Given the description of an element on the screen output the (x, y) to click on. 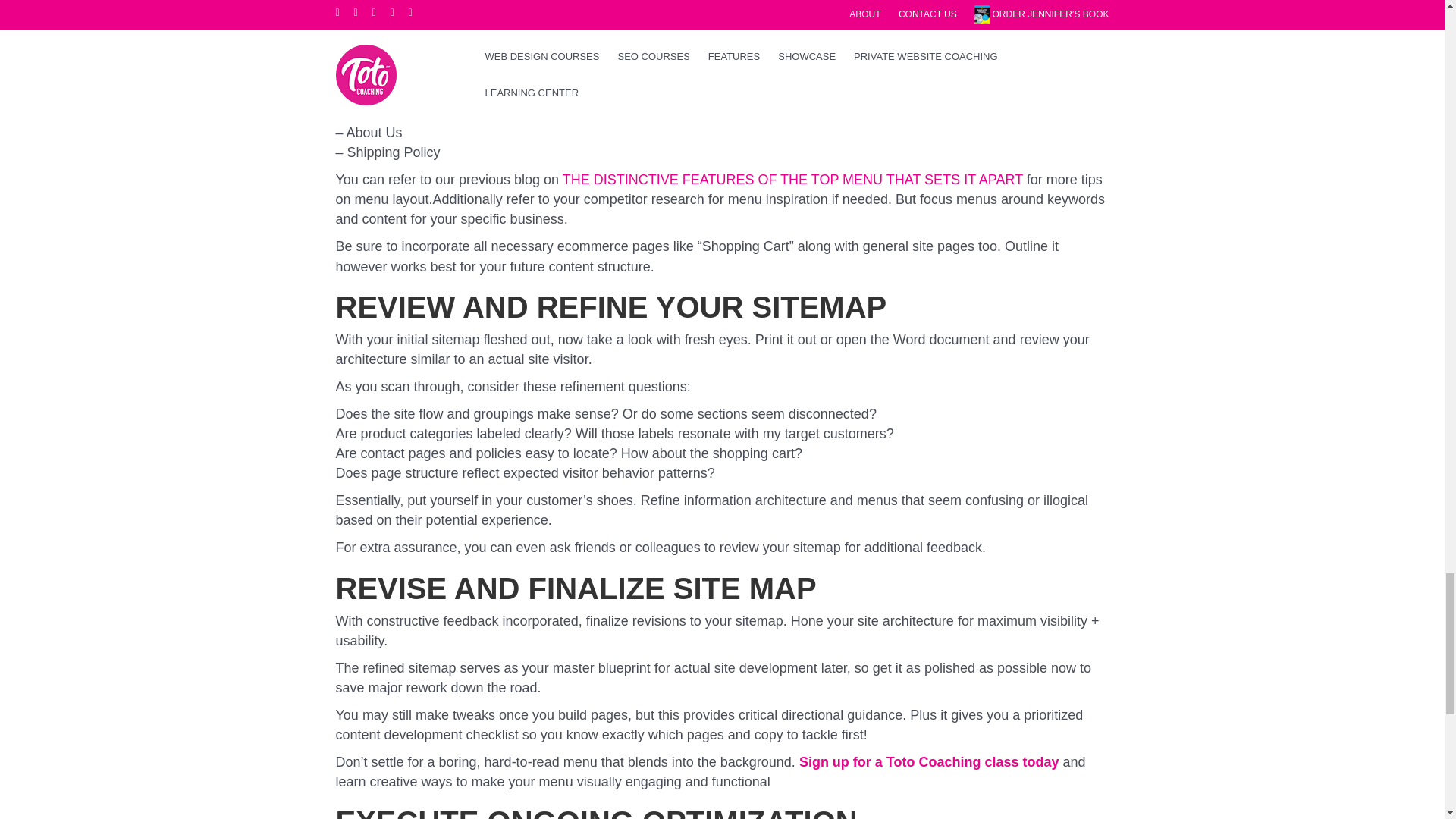
THE DISTINCTIVE FEATURES OF THE TOP MENU THAT SETS IT APART (792, 179)
Sign up for a Toto Coaching class today (929, 761)
